Given the description of an element on the screen output the (x, y) to click on. 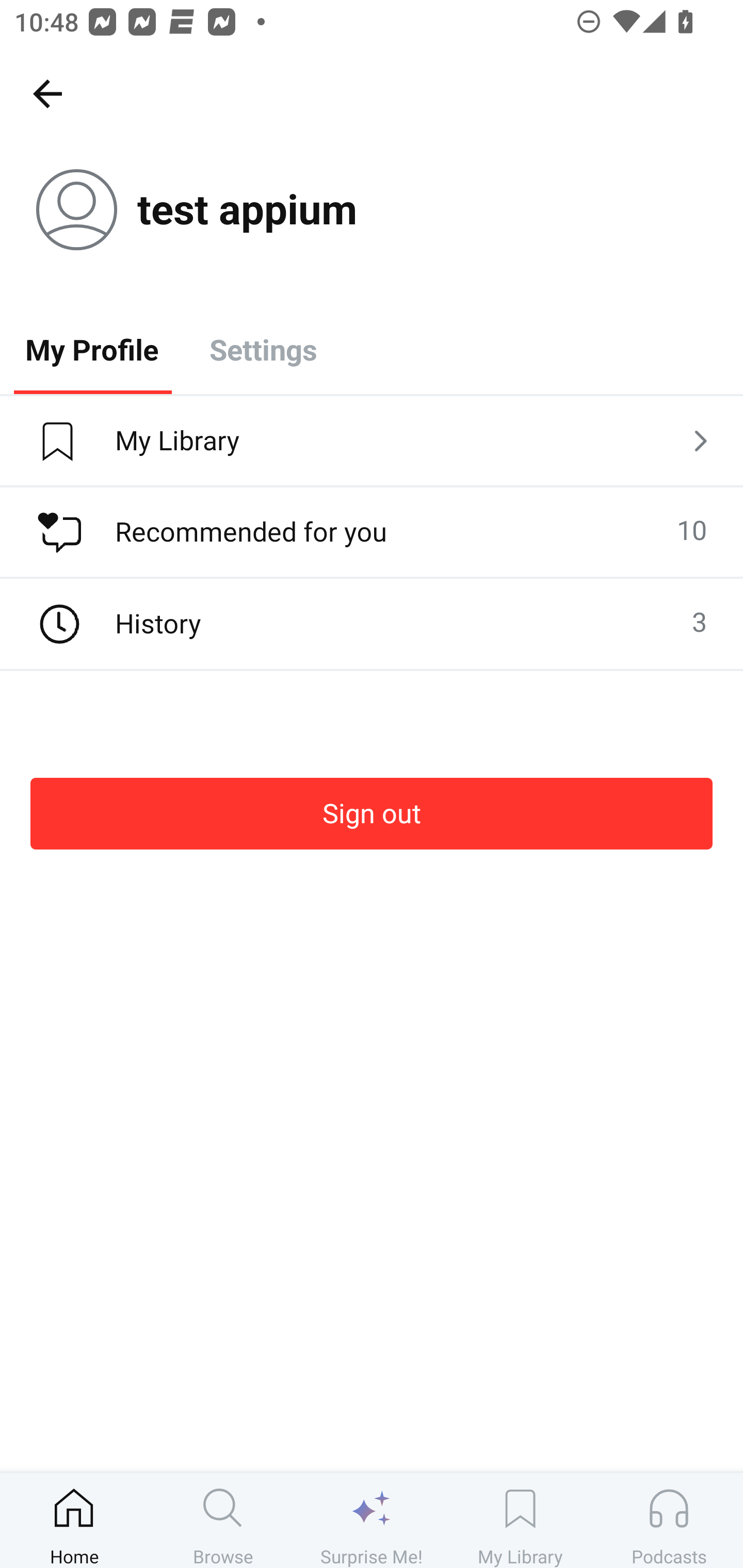
Home, back (47, 92)
My Profile (92, 348)
Settings (263, 348)
My Library (371, 441)
Recommended for you 10 (371, 532)
History 3 (371, 623)
Sign out (371, 813)
Home (74, 1520)
Browse (222, 1520)
Surprise Me! (371, 1520)
My Library (519, 1520)
Podcasts (668, 1520)
